Given the description of an element on the screen output the (x, y) to click on. 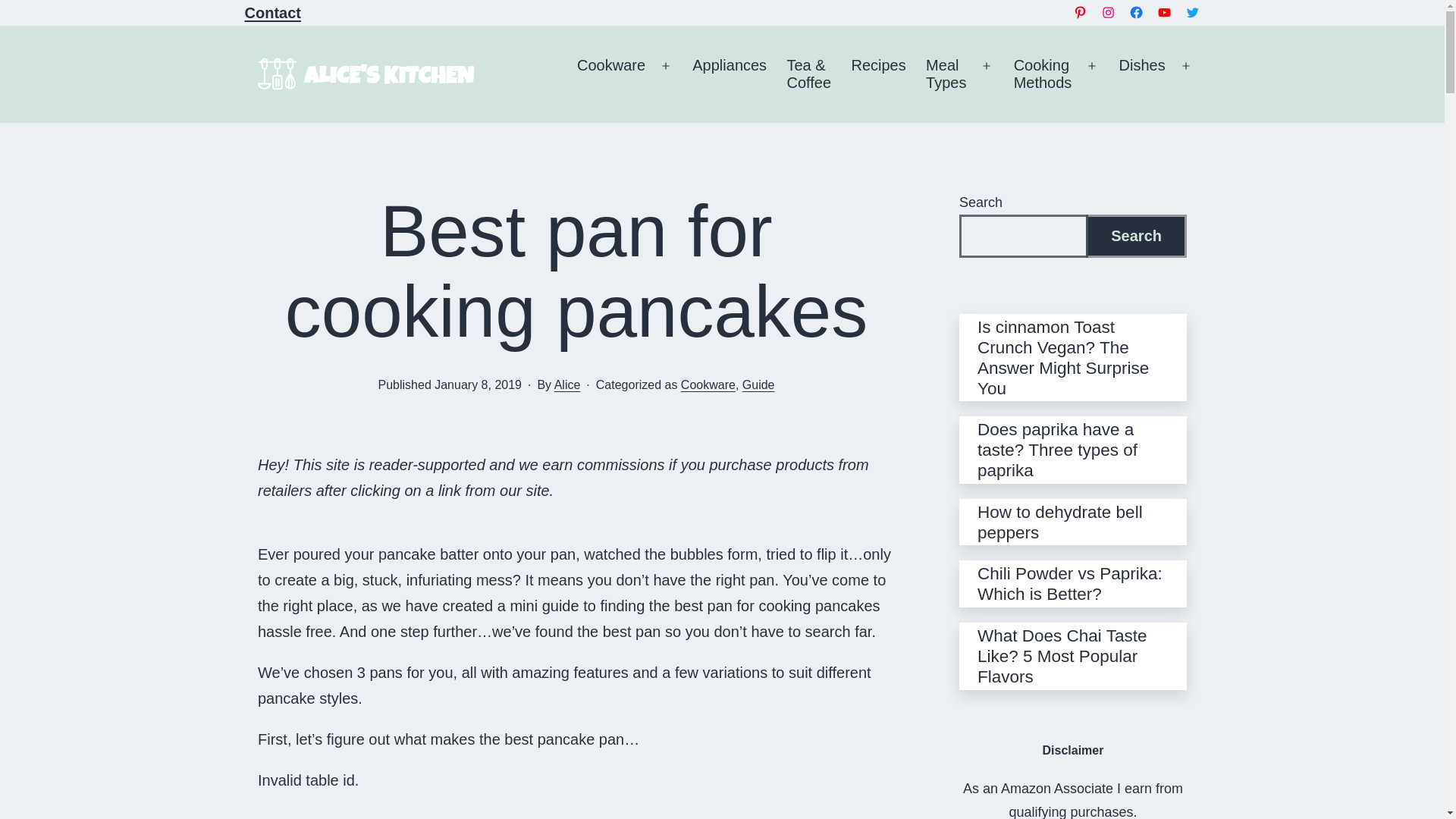
Appliances (729, 73)
Cookware (611, 73)
YouTube (1164, 11)
Twitter (1192, 11)
Facebook (1135, 11)
Pinterest (1080, 11)
Instagram (1107, 11)
Recipes (945, 73)
Contact (878, 73)
